Given the description of an element on the screen output the (x, y) to click on. 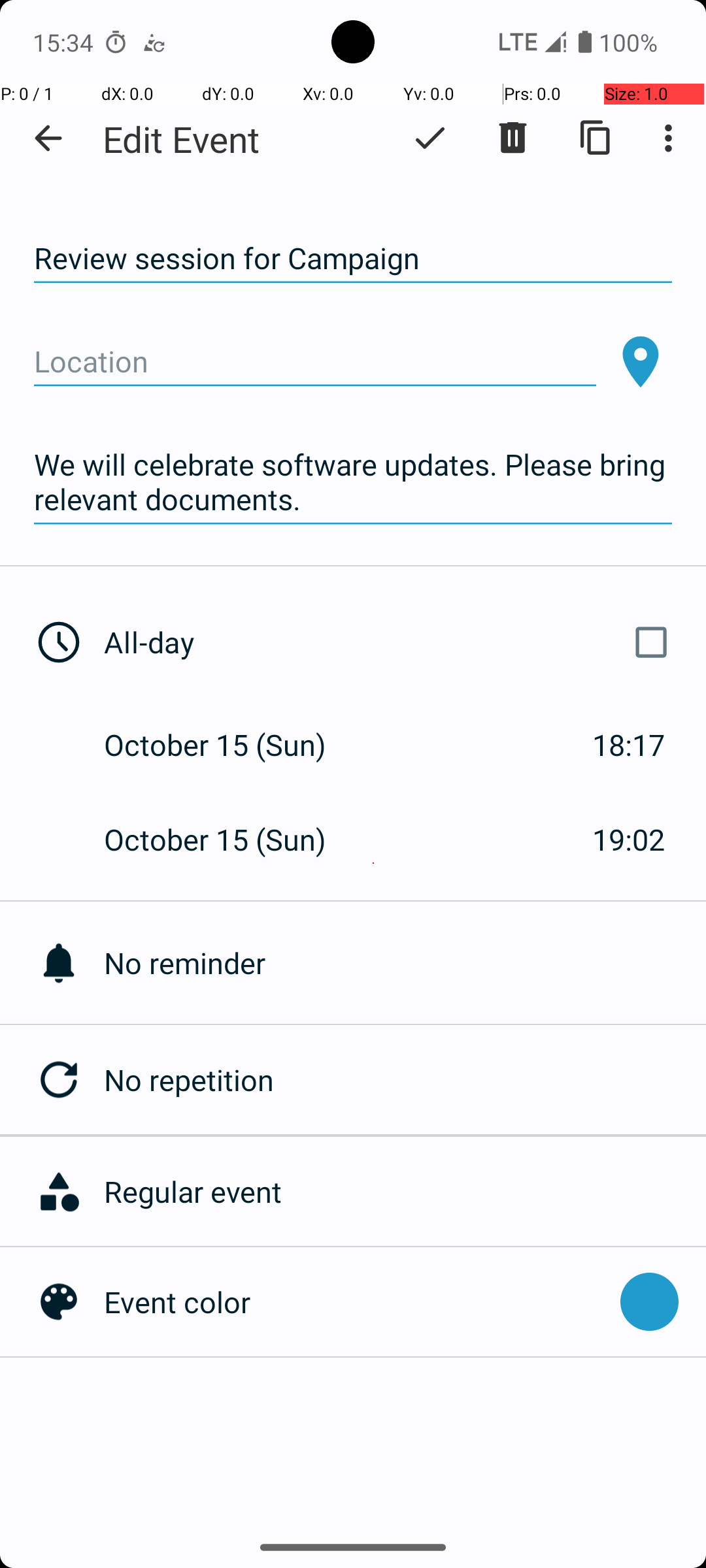
We will celebrate software updates. Please bring relevant documents. Element type: android.widget.EditText (352, 482)
18:17 Element type: android.widget.TextView (628, 744)
19:02 Element type: android.widget.TextView (628, 838)
